Given the description of an element on the screen output the (x, y) to click on. 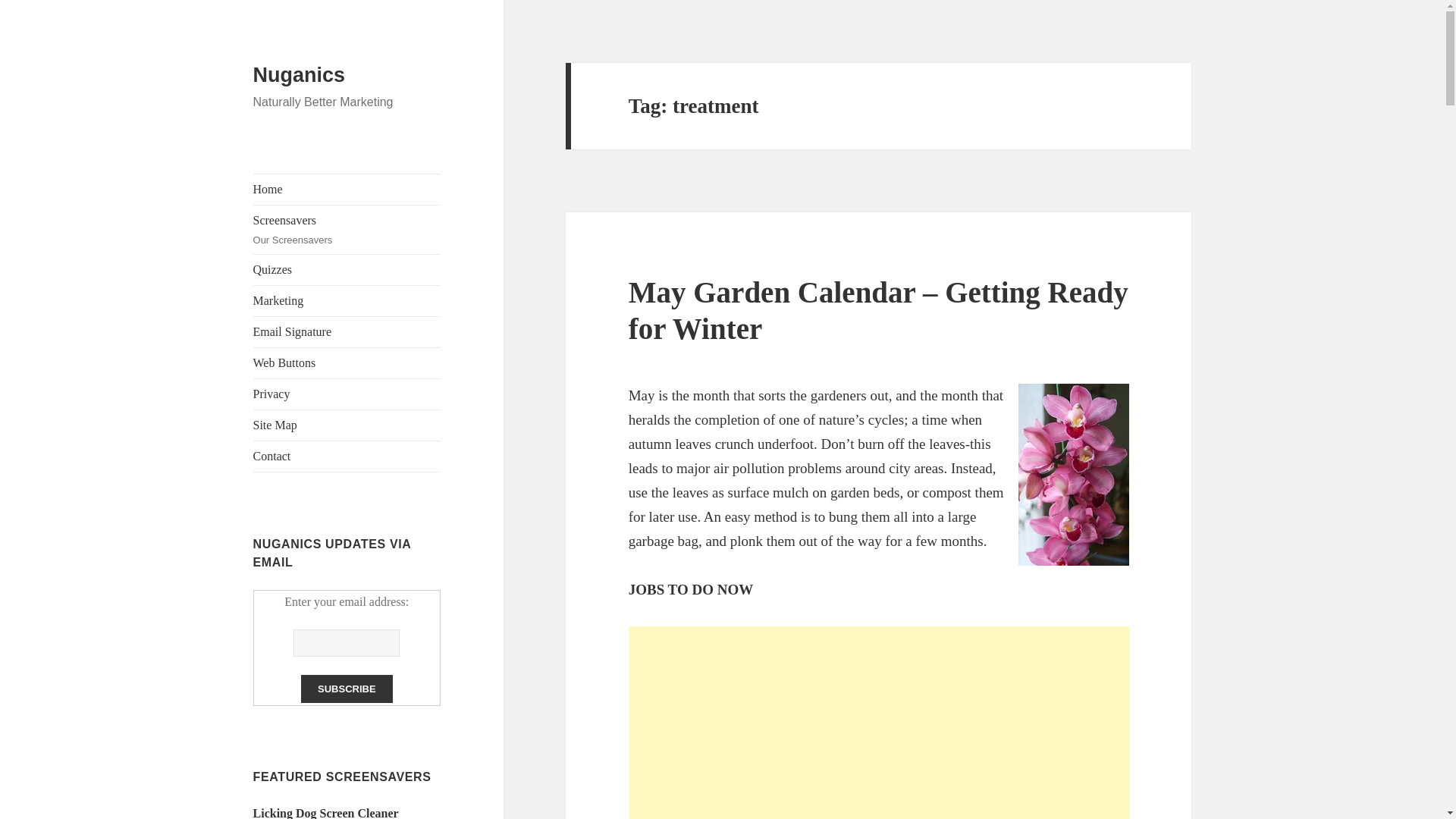
Marketing (347, 300)
Web Buttons (347, 363)
Contact (347, 456)
Nuganics (347, 229)
Licking Dog Screen Cleaner (299, 74)
Email Signature (325, 812)
Advertisement (347, 331)
Home (878, 722)
Subscribe (347, 189)
